Given the description of an element on the screen output the (x, y) to click on. 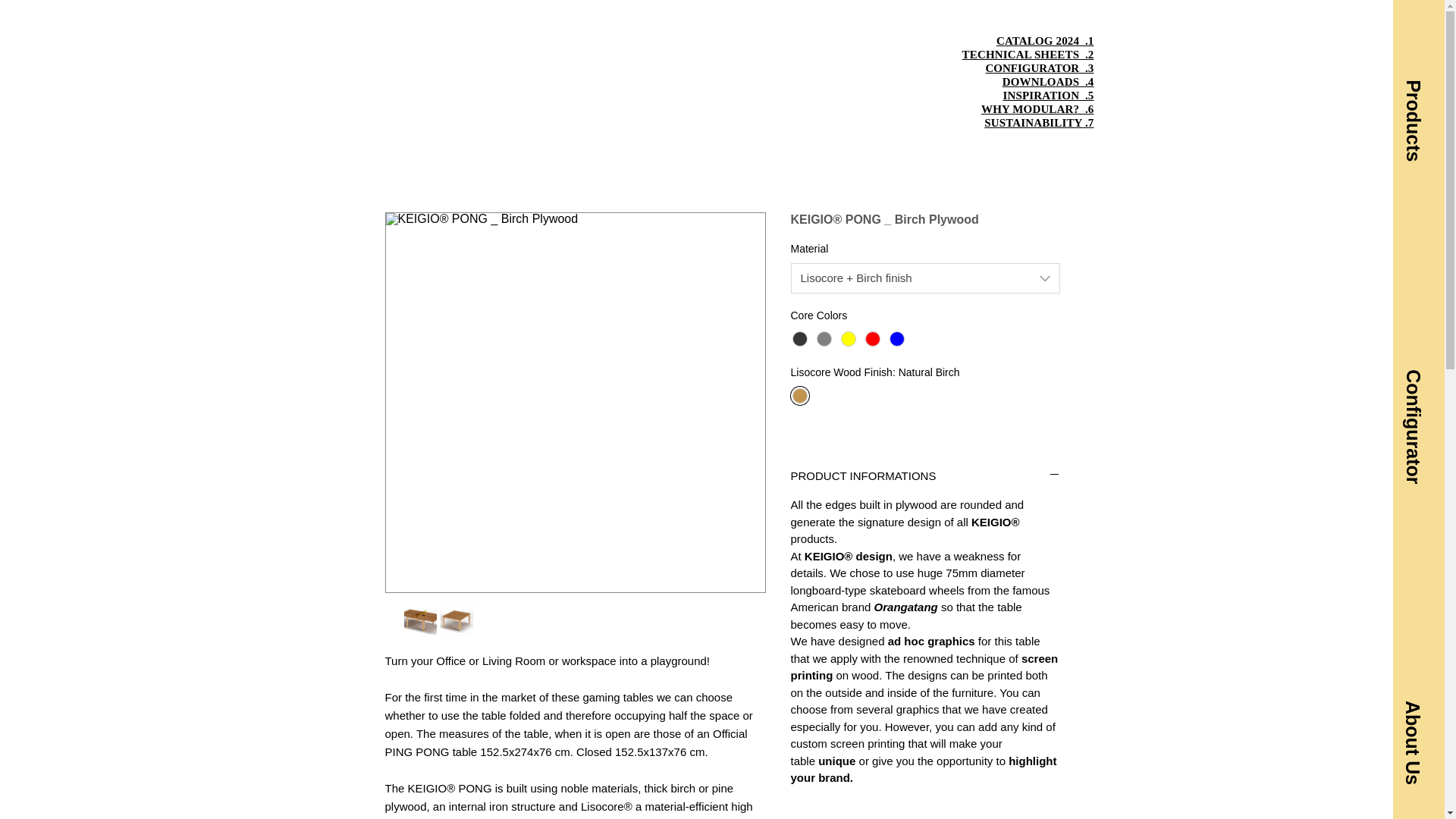
TECHNICAL SHEETS  .2 (1028, 54)
CONFIGURATOR  .3 (1039, 68)
CATALOG 2024  .1 (1044, 40)
DOWNLOADS  .4 (1037, 115)
PRODUCT INFORMATIONS (1048, 88)
INSPIRATION  .5 (924, 475)
